Given the description of an element on the screen output the (x, y) to click on. 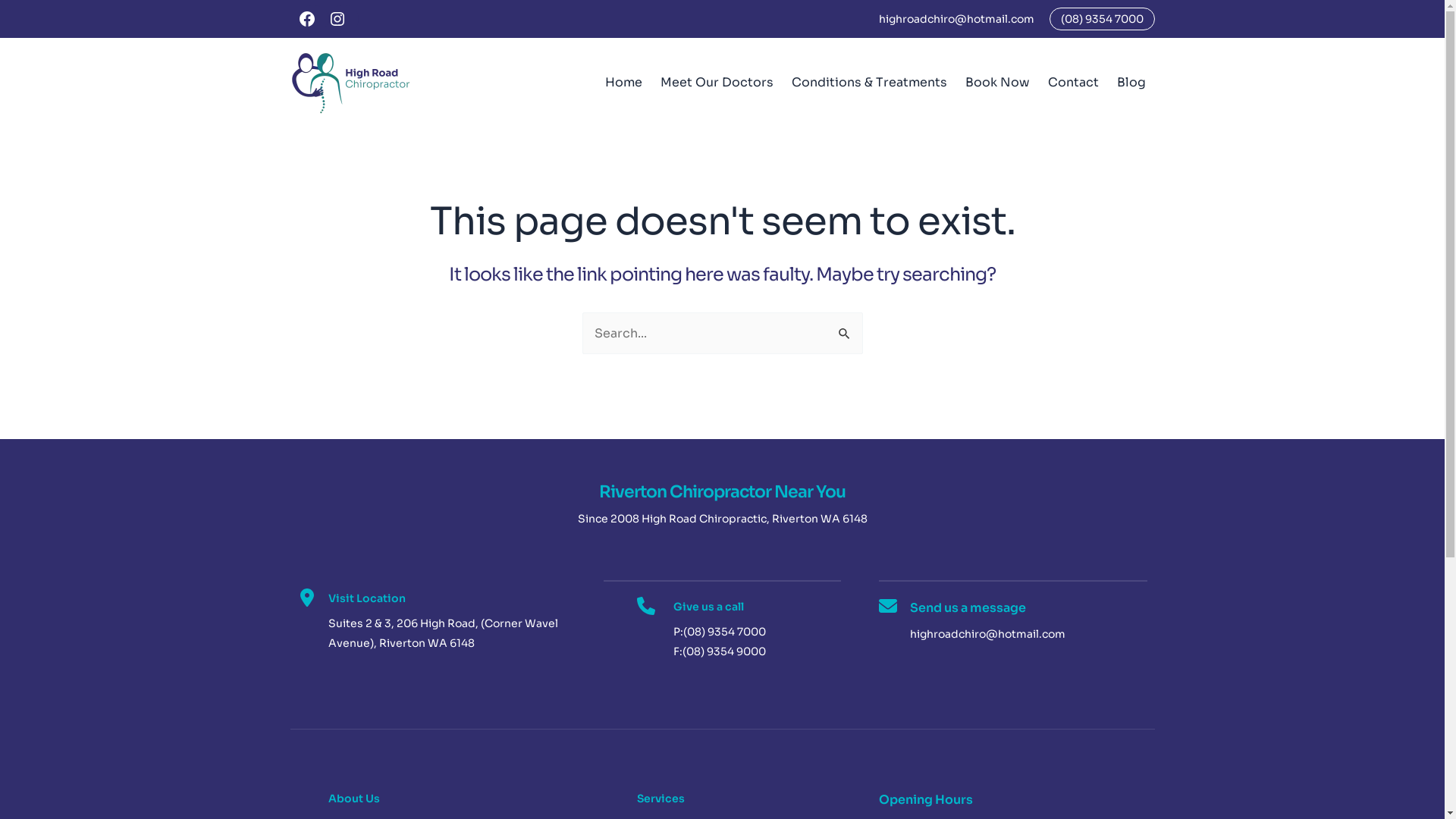
Contact Element type: text (1072, 82)
Blog Element type: text (1130, 82)
highroadchiro@hotmail.com Element type: text (955, 18)
Search Element type: text (845, 328)
Instagram Element type: text (342, 18)
(08) 9354 7000 Element type: text (1101, 18)
Conditions & Treatments Element type: text (869, 82)
Facebook Element type: text (312, 18)
Home Element type: text (623, 82)
Book Now Element type: text (996, 82)
Meet Our Doctors Element type: text (715, 82)
